Given the description of an element on the screen output the (x, y) to click on. 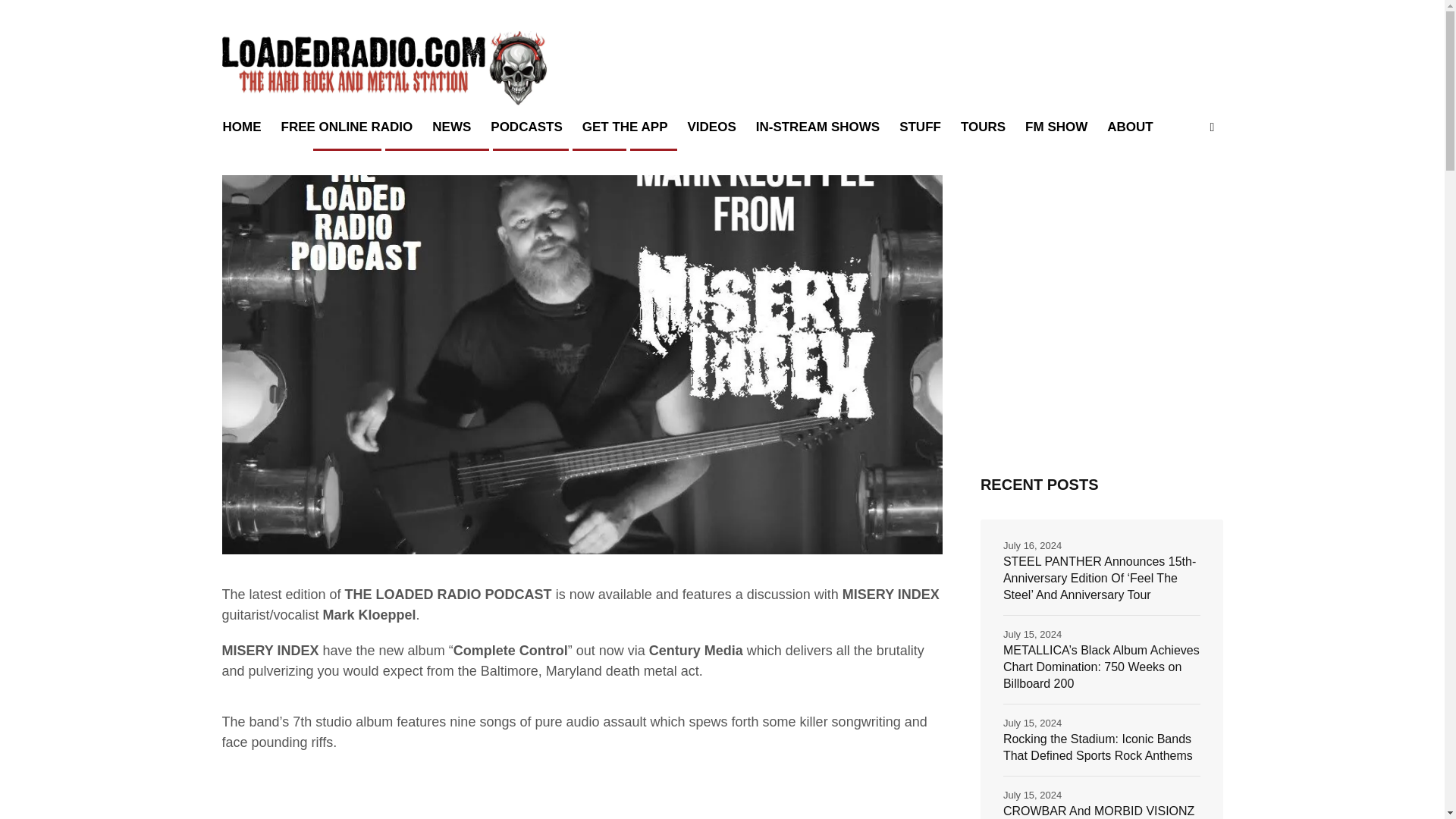
IN-STREAM SHOWS (817, 127)
NEWS (451, 127)
STUFF (919, 127)
NEWS (653, 140)
May 31, 2022 (265, 140)
FM SHOW (1055, 127)
VIDEOS (711, 127)
LATEST (599, 140)
FREE ONLINE RADIO (346, 127)
ABOUT (1129, 127)
TOURS (982, 127)
GET THE APP (625, 127)
DARK AND BRUTAL (437, 140)
FEATURED (347, 140)
